Given the description of an element on the screen output the (x, y) to click on. 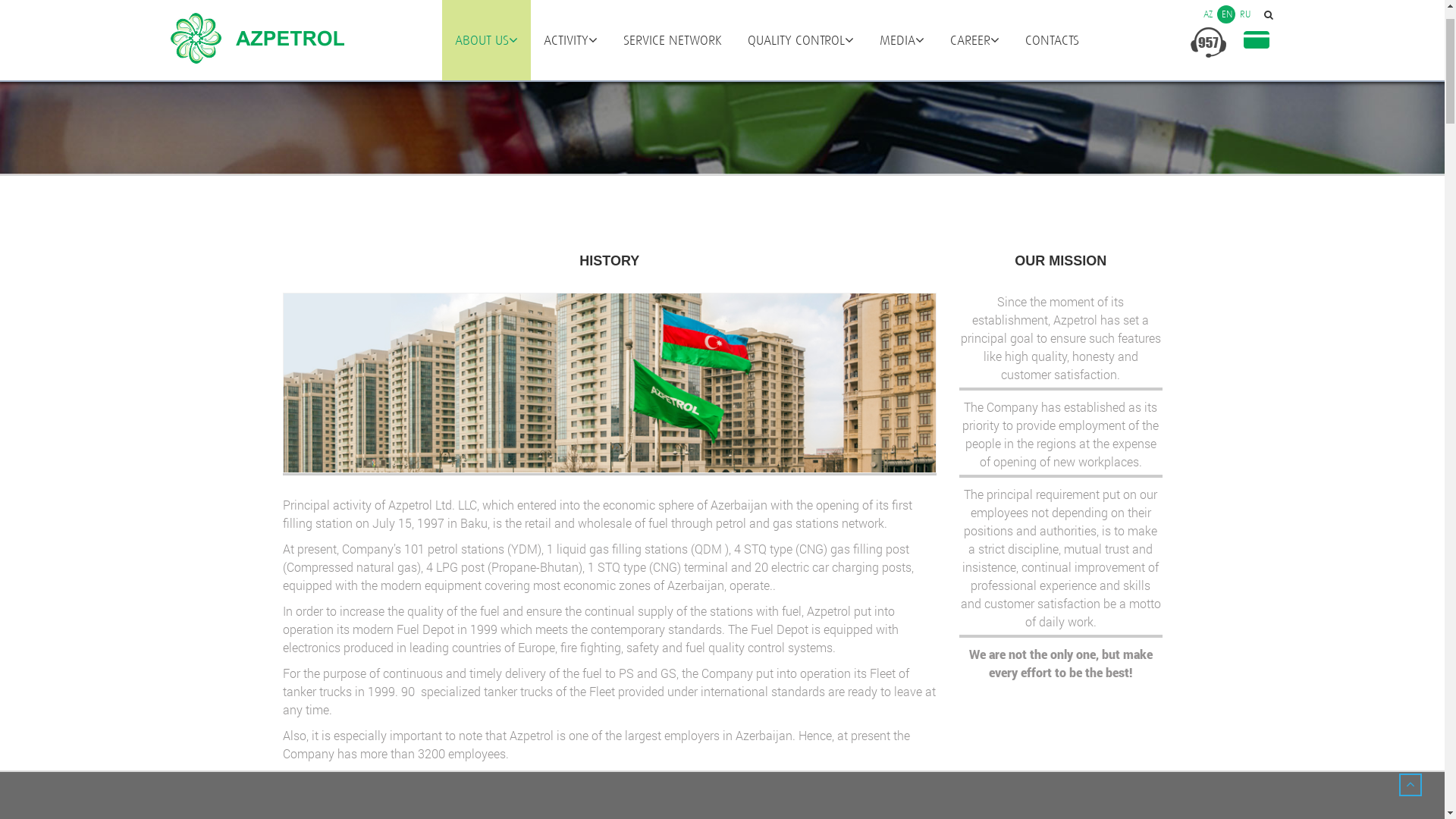
CONTACTS Element type: text (1051, 100)
MEDIA Element type: text (901, 100)
SERVICE NETWORK Element type: text (671, 100)
RU Element type: text (68, 19)
CAREER Element type: text (974, 100)
ABOUT US Element type: text (485, 100)
AZ Element type: text (31, 19)
QUALITY CONTROL Element type: text (800, 100)
RU Element type: text (1244, 74)
ACTIVITY Element type: text (570, 100)
AZ Element type: text (1207, 74)
